Given the description of an element on the screen output the (x, y) to click on. 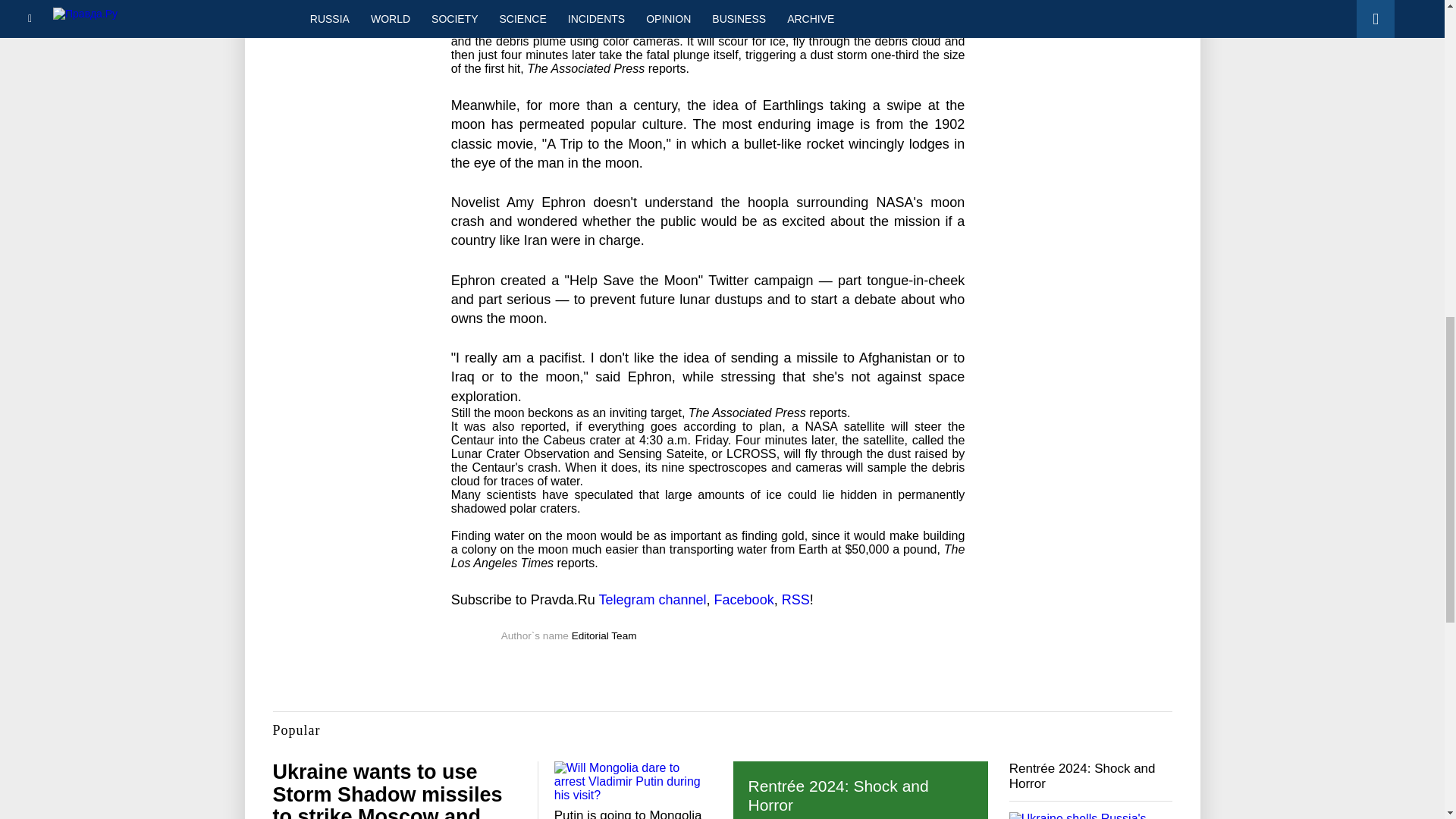
Back to top (1418, 79)
Telegram channel (652, 599)
Facebook (744, 599)
Editorial Team (604, 635)
RSS (795, 599)
